Given the description of an element on the screen output the (x, y) to click on. 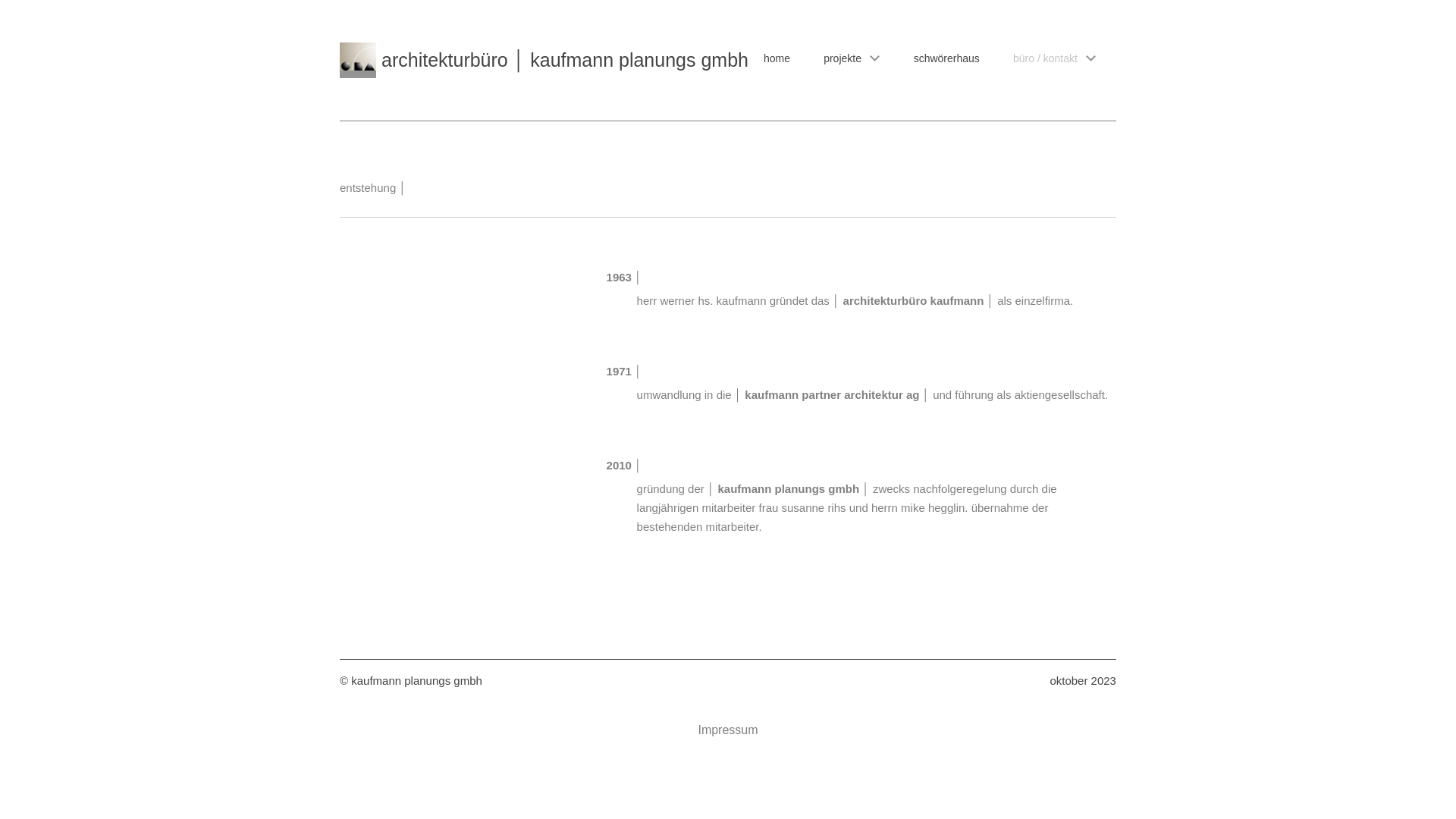
home Element type: text (776, 58)
Impressum Element type: text (727, 729)
